Given the description of an element on the screen output the (x, y) to click on. 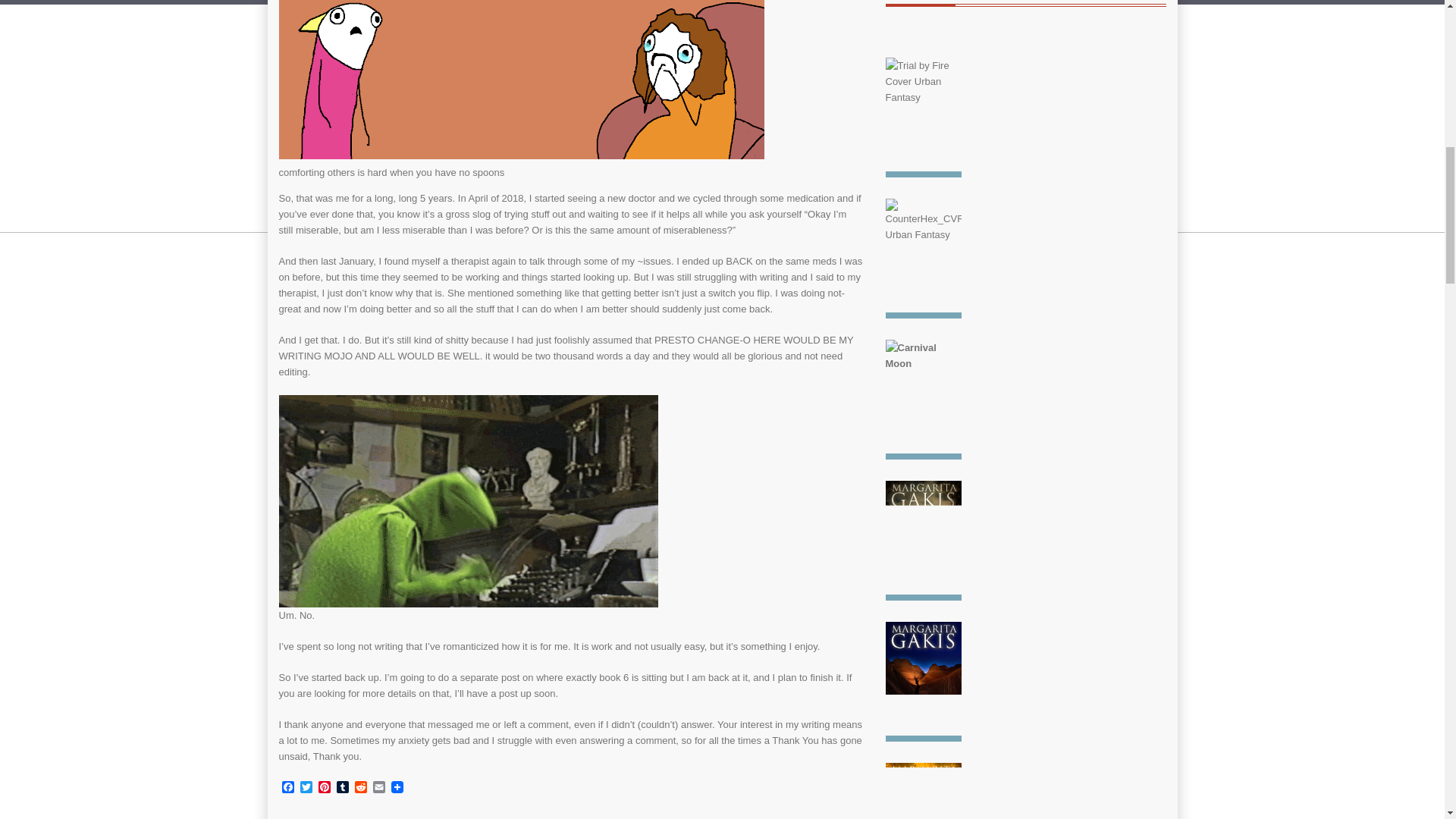
Twitter (306, 788)
Trial By Fire (922, 120)
Email (378, 788)
Reddit (360, 788)
Reddit (360, 788)
Email (378, 788)
Counter Hex (922, 261)
Pinterest (324, 788)
Tumblr (342, 788)
Tumblr (342, 788)
Pinterest (324, 788)
Facebook (288, 788)
Twitter (306, 788)
Facebook (288, 788)
